Given the description of an element on the screen output the (x, y) to click on. 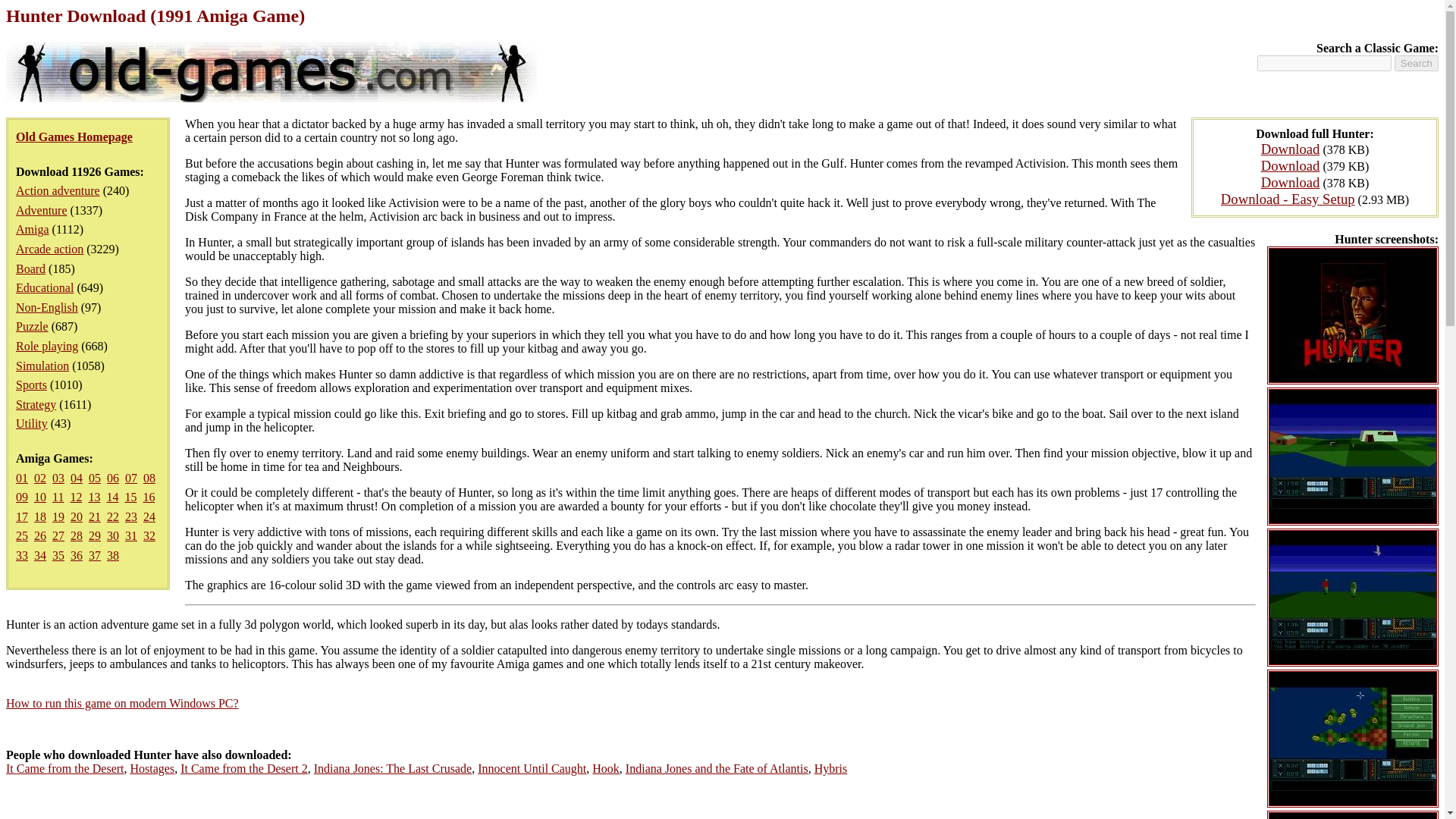
Action adventure (58, 190)
Role playing (47, 345)
25 (21, 535)
05 (94, 477)
16 (148, 496)
Search (1416, 63)
Board (30, 268)
19 (58, 516)
03 (58, 477)
Utility (32, 422)
Educational (45, 287)
10 (39, 496)
08 (148, 477)
02 (39, 477)
Amiga (32, 228)
